Given the description of an element on the screen output the (x, y) to click on. 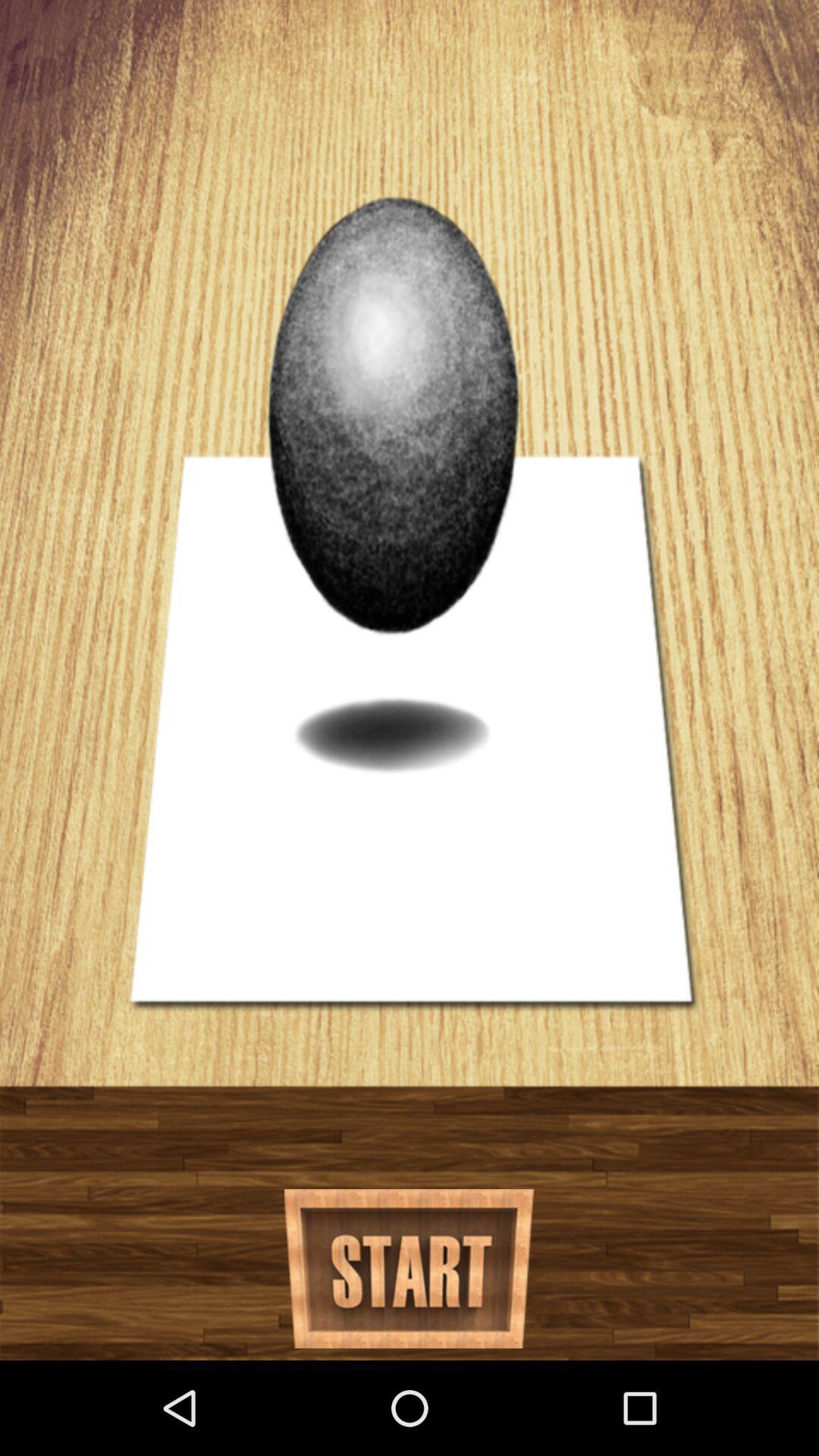
start button (409, 1268)
